Given the description of an element on the screen output the (x, y) to click on. 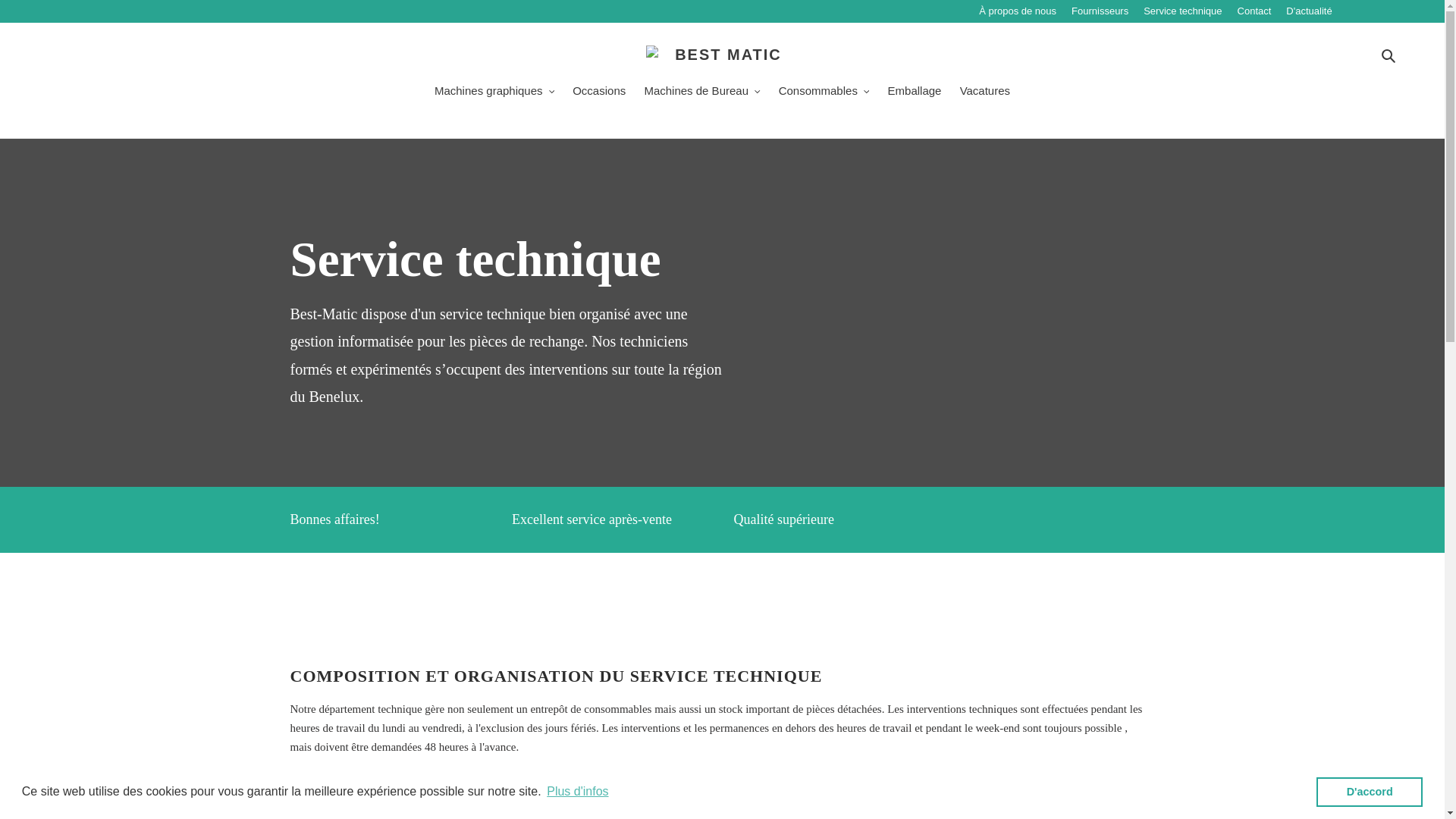
Occasions Element type: text (598, 92)
Consommables Element type: text (824, 92)
Vacatures Element type: text (984, 92)
Contact Element type: text (1261, 10)
Fournisseurs Element type: text (1107, 10)
Machines de Bureau Element type: text (701, 92)
Machines graphiques Element type: text (493, 92)
D'accord Element type: text (1369, 791)
Plus d'infos Element type: text (577, 791)
Emballage Element type: text (914, 92)
Rechercher Element type: text (1389, 54)
Service technique Element type: text (1189, 10)
